Given the description of an element on the screen output the (x, y) to click on. 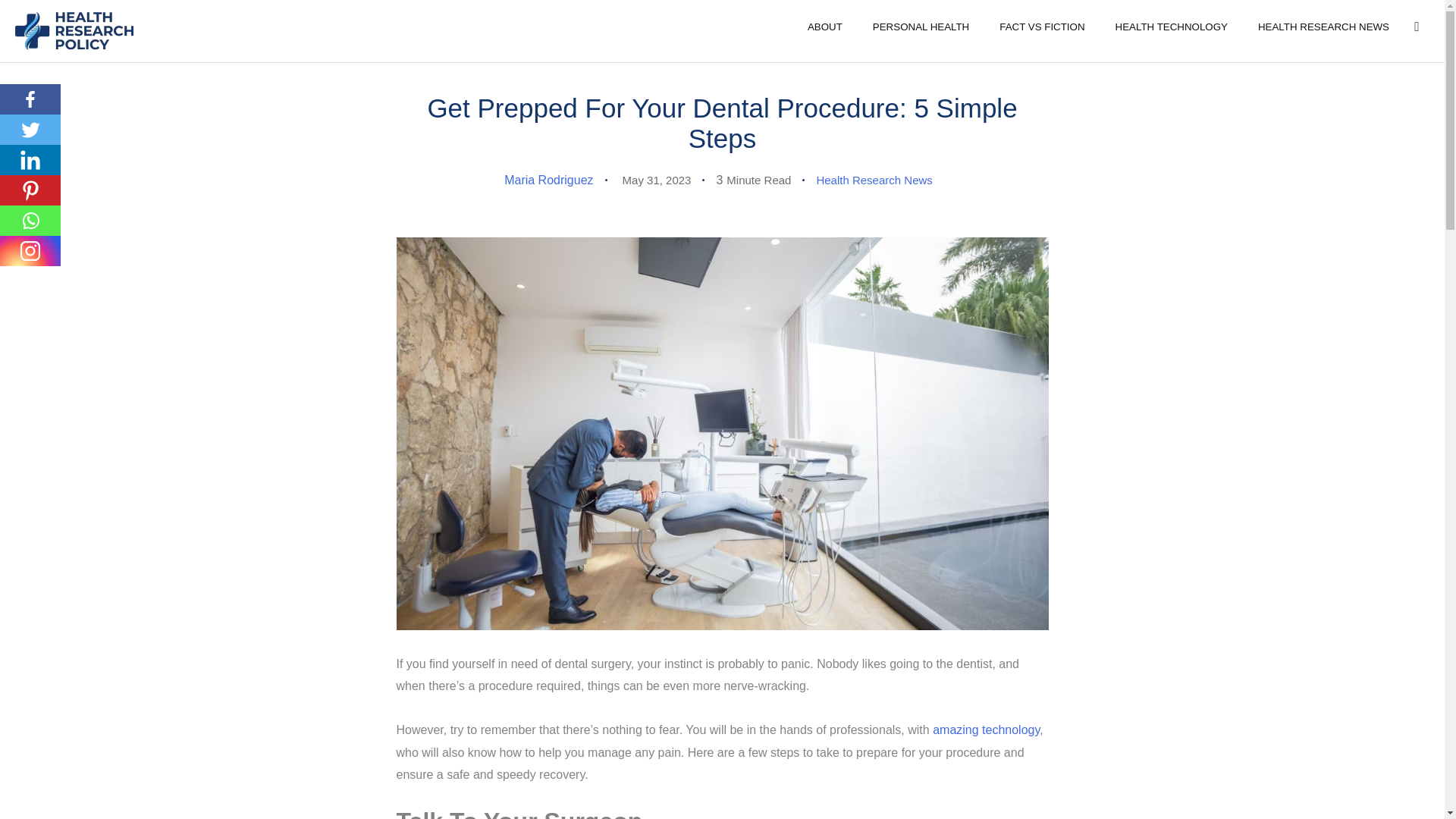
Maria Rodriguez (547, 179)
Facebook (30, 99)
HEALTH TECHNOLOGY (1171, 26)
ABOUT (824, 26)
Instagram (30, 250)
Health Research News (873, 180)
FACT VS FICTION (1041, 26)
Whatsapp (30, 220)
HEALTH RESEARCH NEWS (1324, 26)
Linkedin (30, 159)
Twitter (30, 129)
SEARCH (1415, 26)
Pinterest (30, 190)
amazing technology (986, 729)
PERSONAL HEALTH (920, 26)
